Given the description of an element on the screen output the (x, y) to click on. 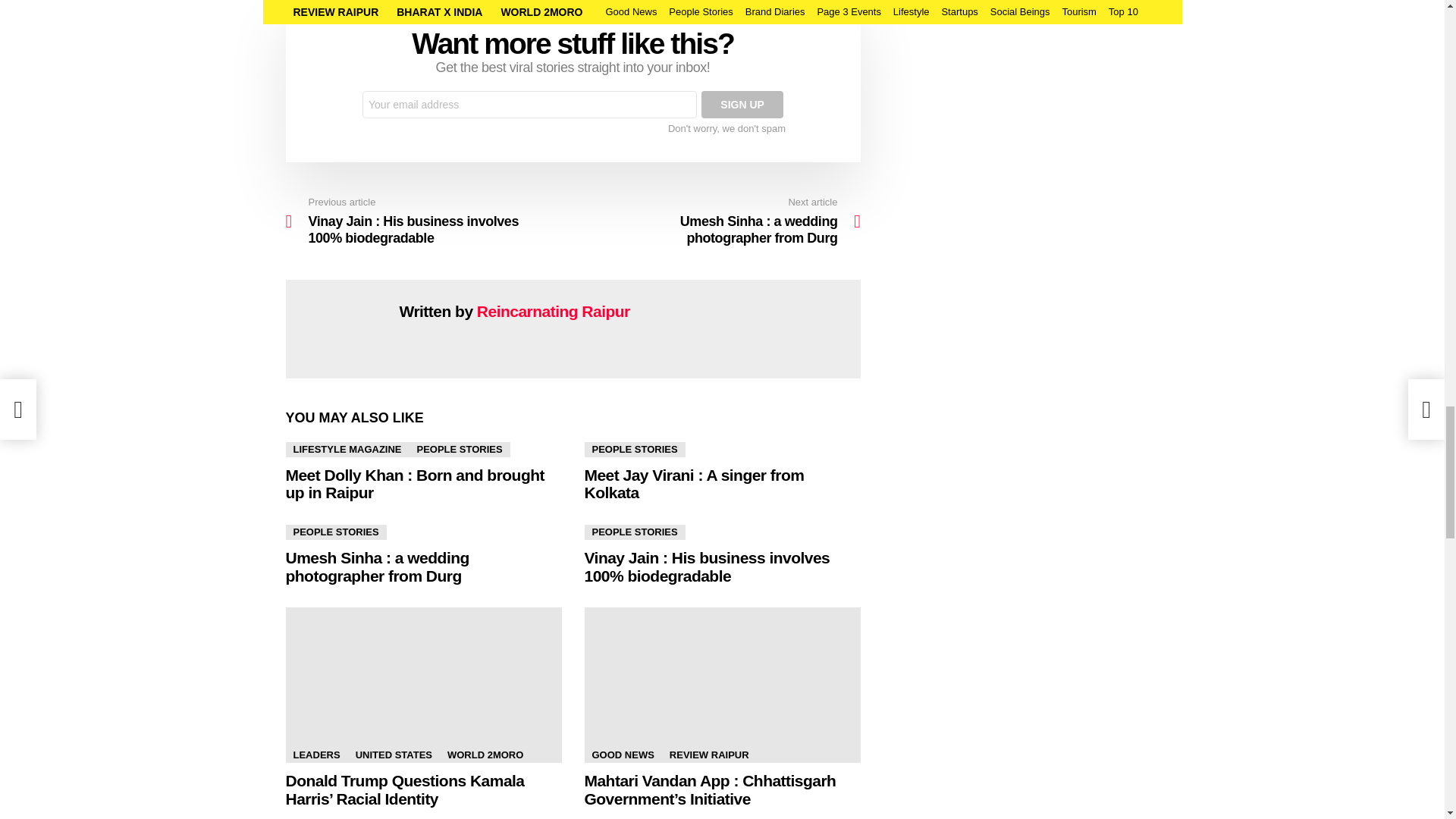
sign Up (742, 103)
